Given the description of an element on the screen output the (x, y) to click on. 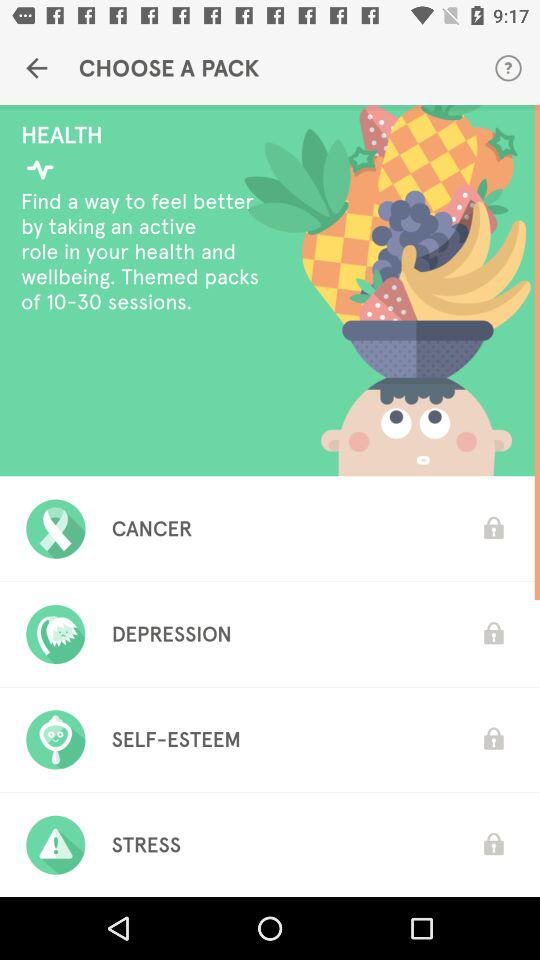
select the icon below the self-esteem icon (146, 845)
